Given the description of an element on the screen output the (x, y) to click on. 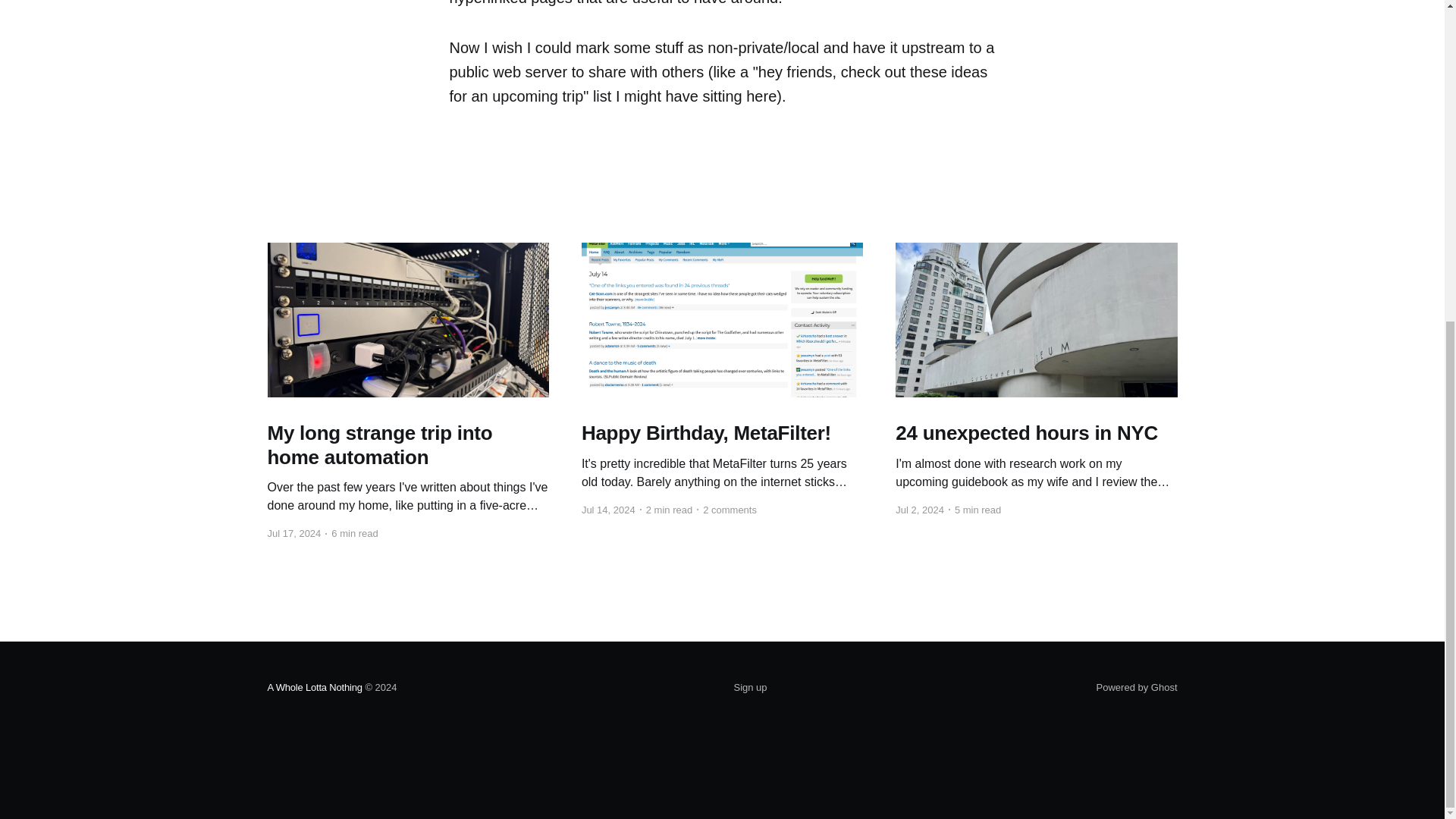
A Whole Lotta Nothing (313, 686)
Powered by Ghost (1136, 686)
Sign up (750, 687)
